Given the description of an element on the screen output the (x, y) to click on. 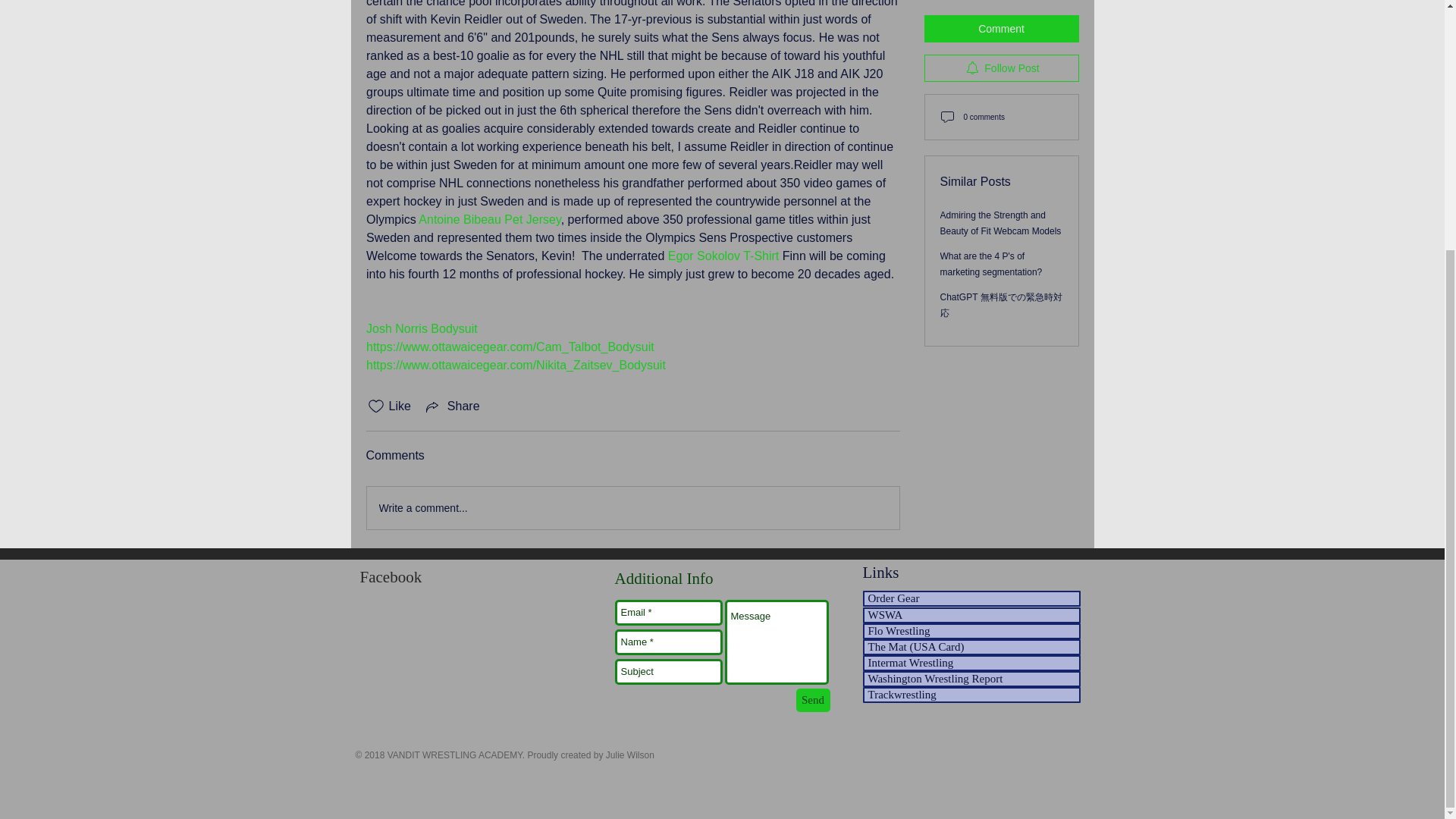
Flo Wrestling (971, 631)
Share (451, 406)
Order Gear (971, 598)
What are the 4 P's of marketing segmentation? (991, 98)
Intermat Wrestling (971, 662)
WSWA (971, 615)
Admiring the Strength and Beauty of Fit Webcam Models (1000, 58)
Trackwrestling (971, 694)
Washington Wrestling Report (971, 678)
Josh Norris Bodysuit (421, 328)
